Given the description of an element on the screen output the (x, y) to click on. 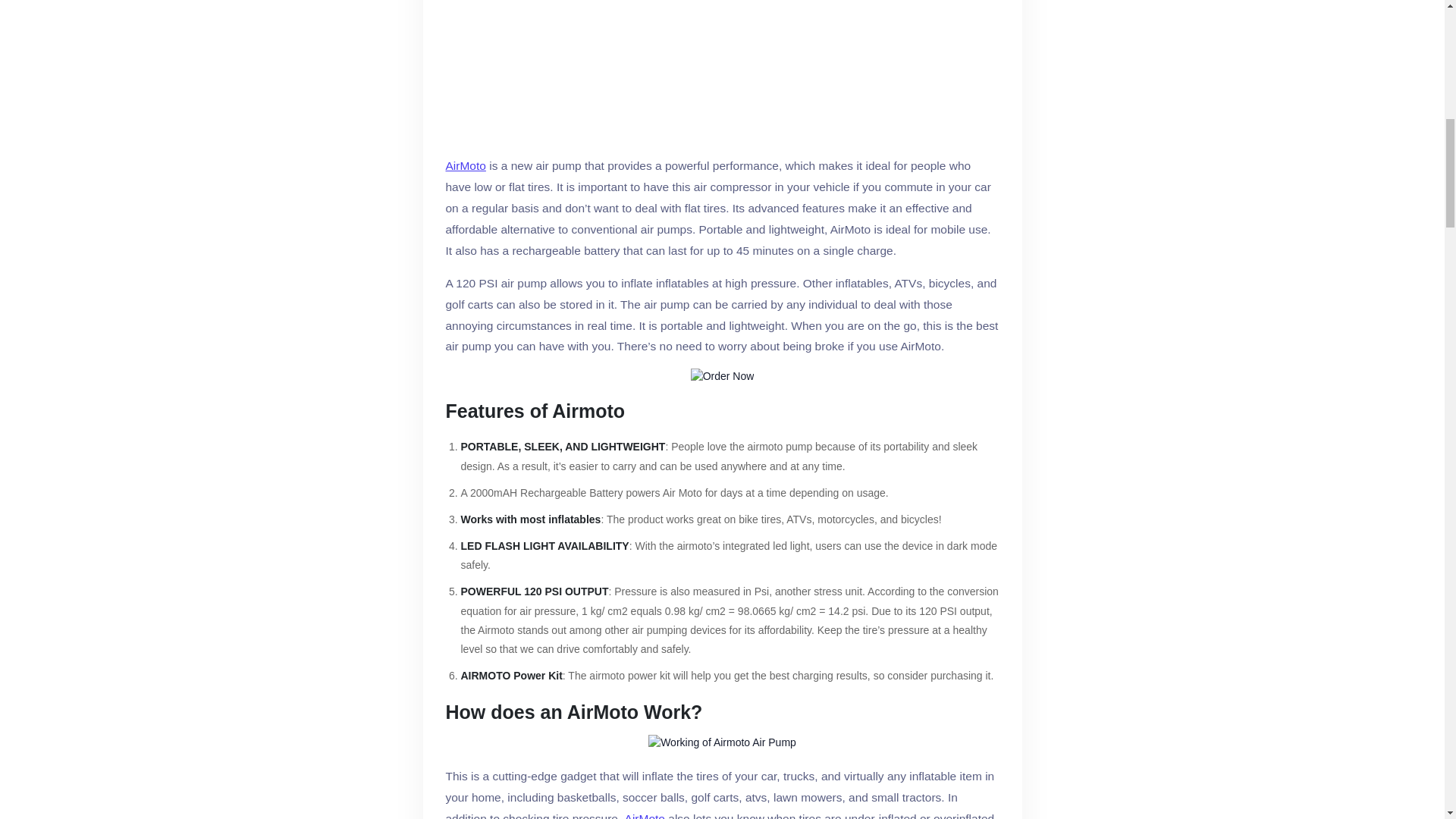
AirMoto (465, 165)
AirMoto (644, 813)
